Given the description of an element on the screen output the (x, y) to click on. 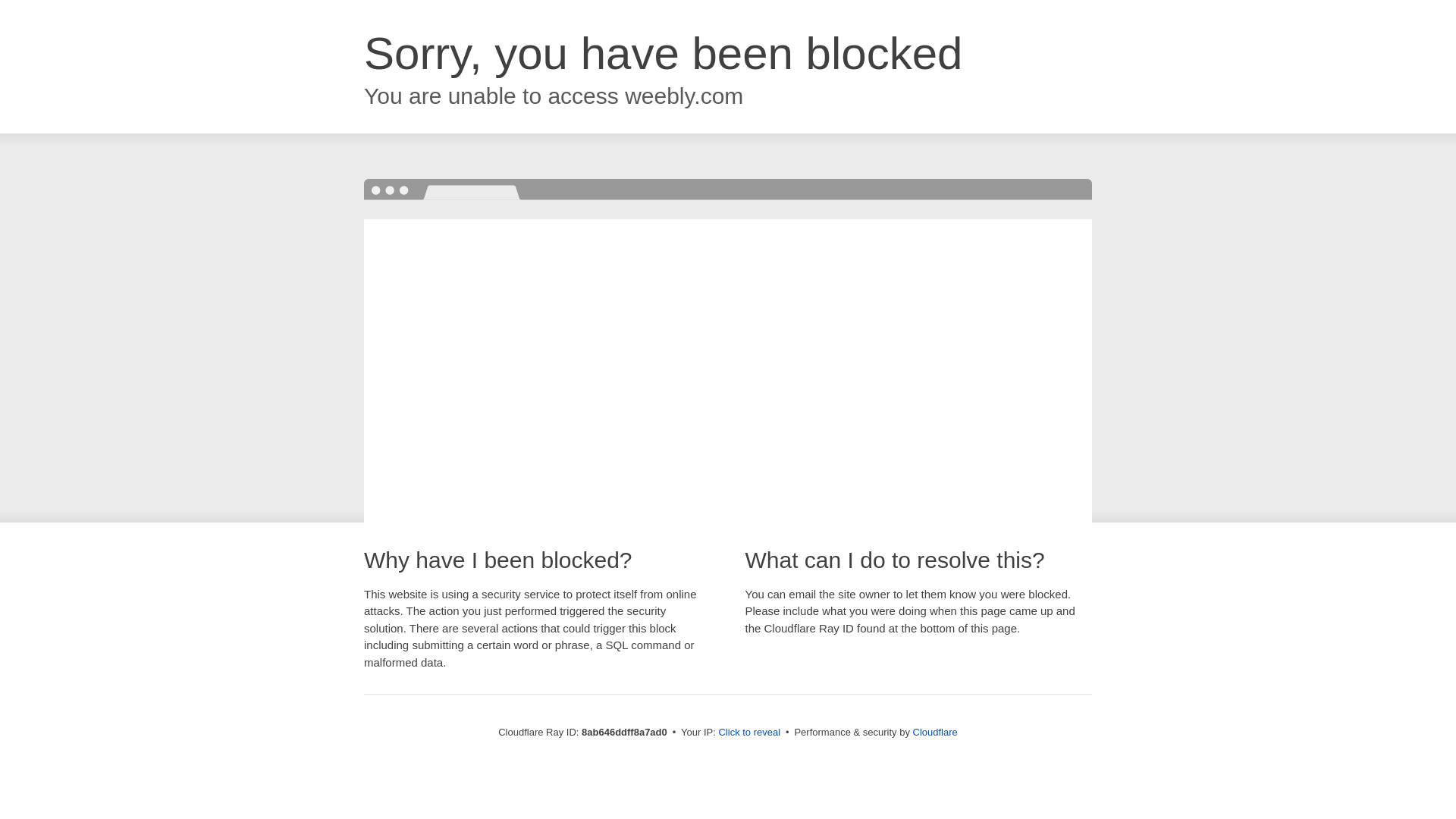
Click to reveal (748, 732)
Cloudflare (935, 731)
